Given the description of an element on the screen output the (x, y) to click on. 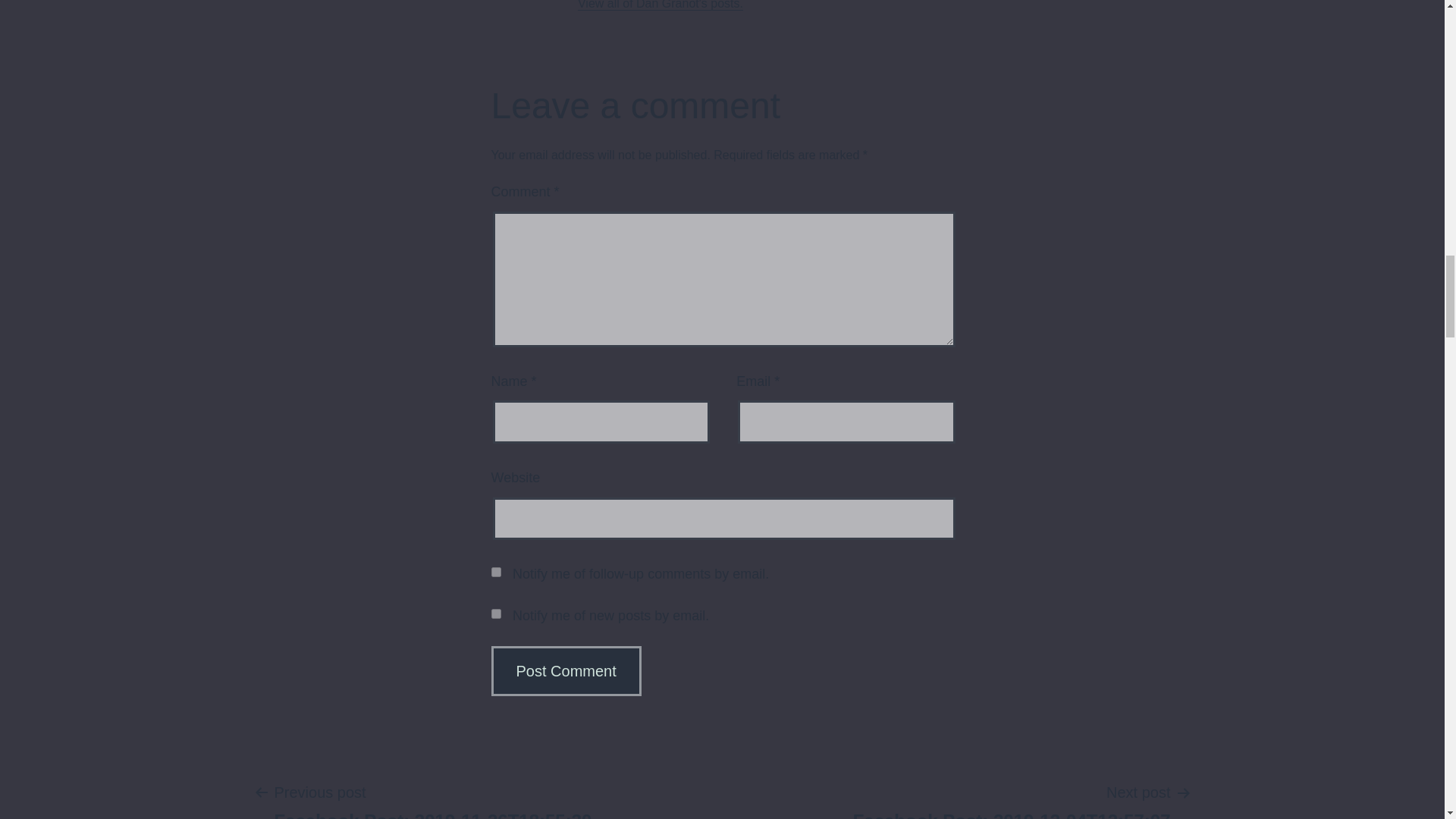
Post Comment (1011, 799)
Post Comment (567, 671)
View all of Dan Granot's posts. (567, 671)
